Given the description of an element on the screen output the (x, y) to click on. 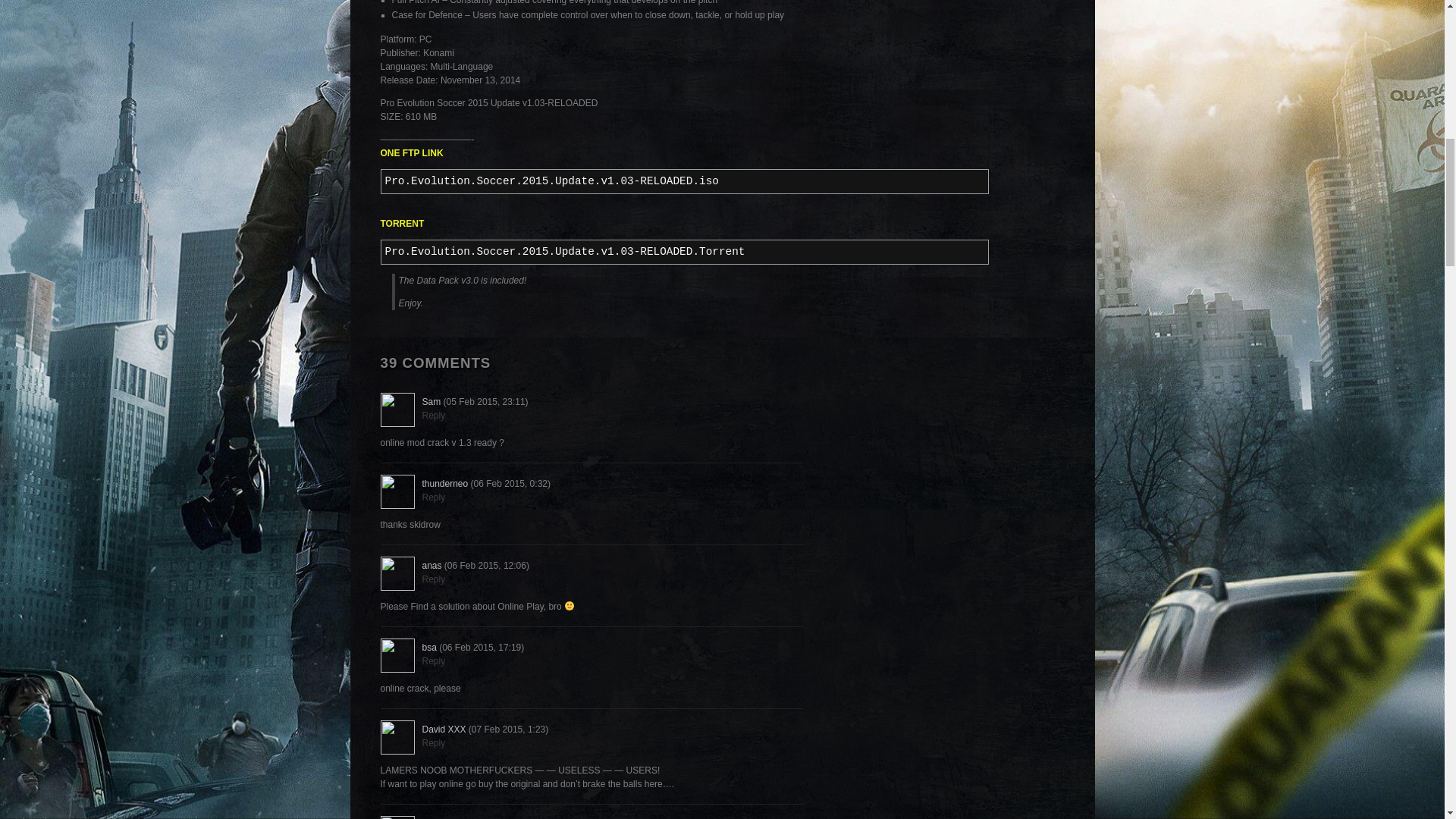
Reply (433, 661)
Reply (433, 415)
Reply (433, 579)
Pro.Evolution.Soccer.2015.Update.v1.03-RELOADED.iso (721, 181)
Reply (433, 742)
Reply (433, 497)
Pro.Evolution.Soccer.2015.Update.v1.03-RELOADED.Torrent (721, 251)
